Given the description of an element on the screen output the (x, y) to click on. 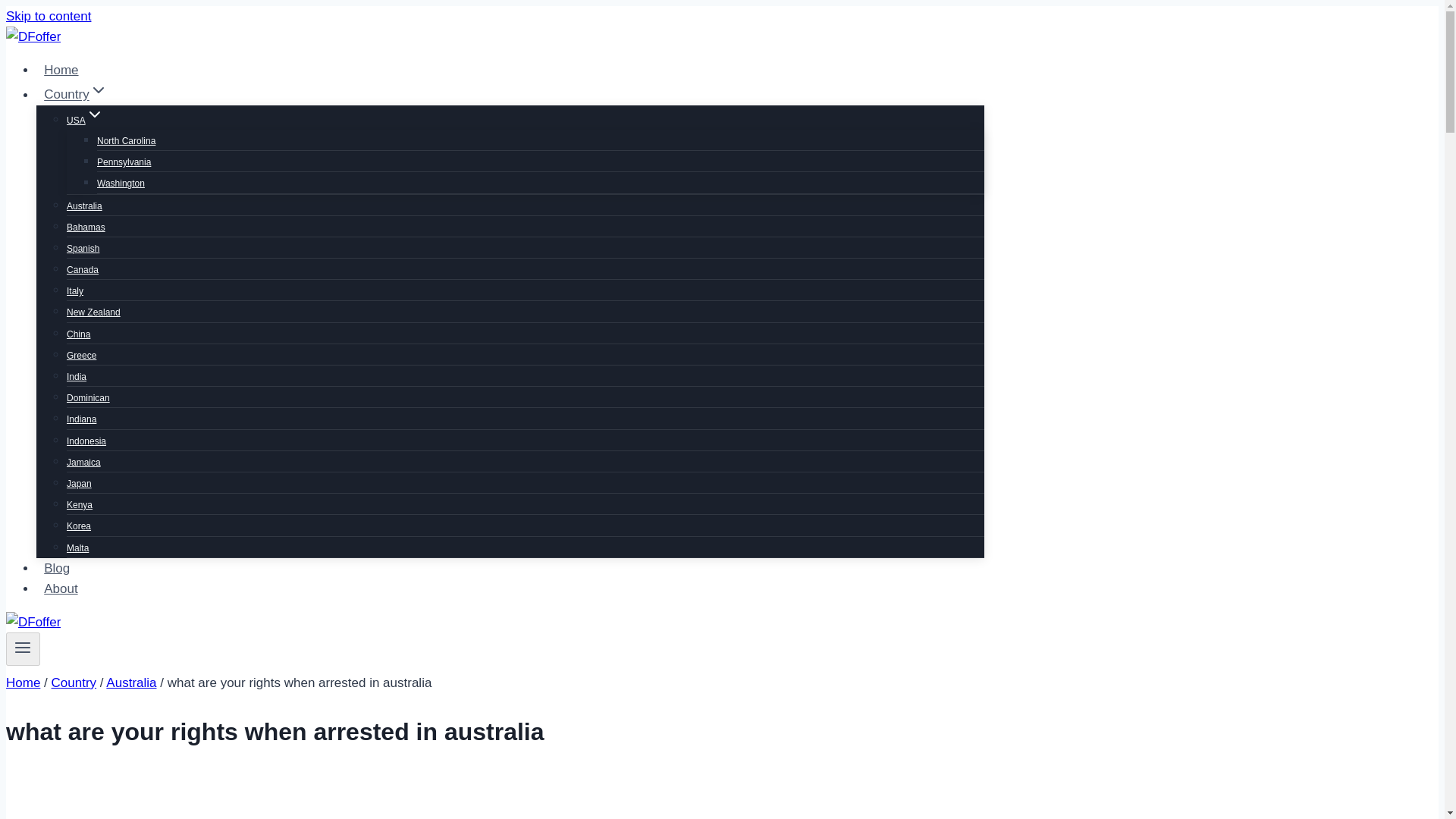
Jamaica (83, 461)
Spanish (82, 248)
New Zealand (93, 312)
Toggle Menu (22, 648)
Expand (94, 114)
Bahamas (85, 226)
Skip to content (47, 16)
Washington (120, 183)
CountryExpand (75, 93)
Greece (81, 355)
